Given the description of an element on the screen output the (x, y) to click on. 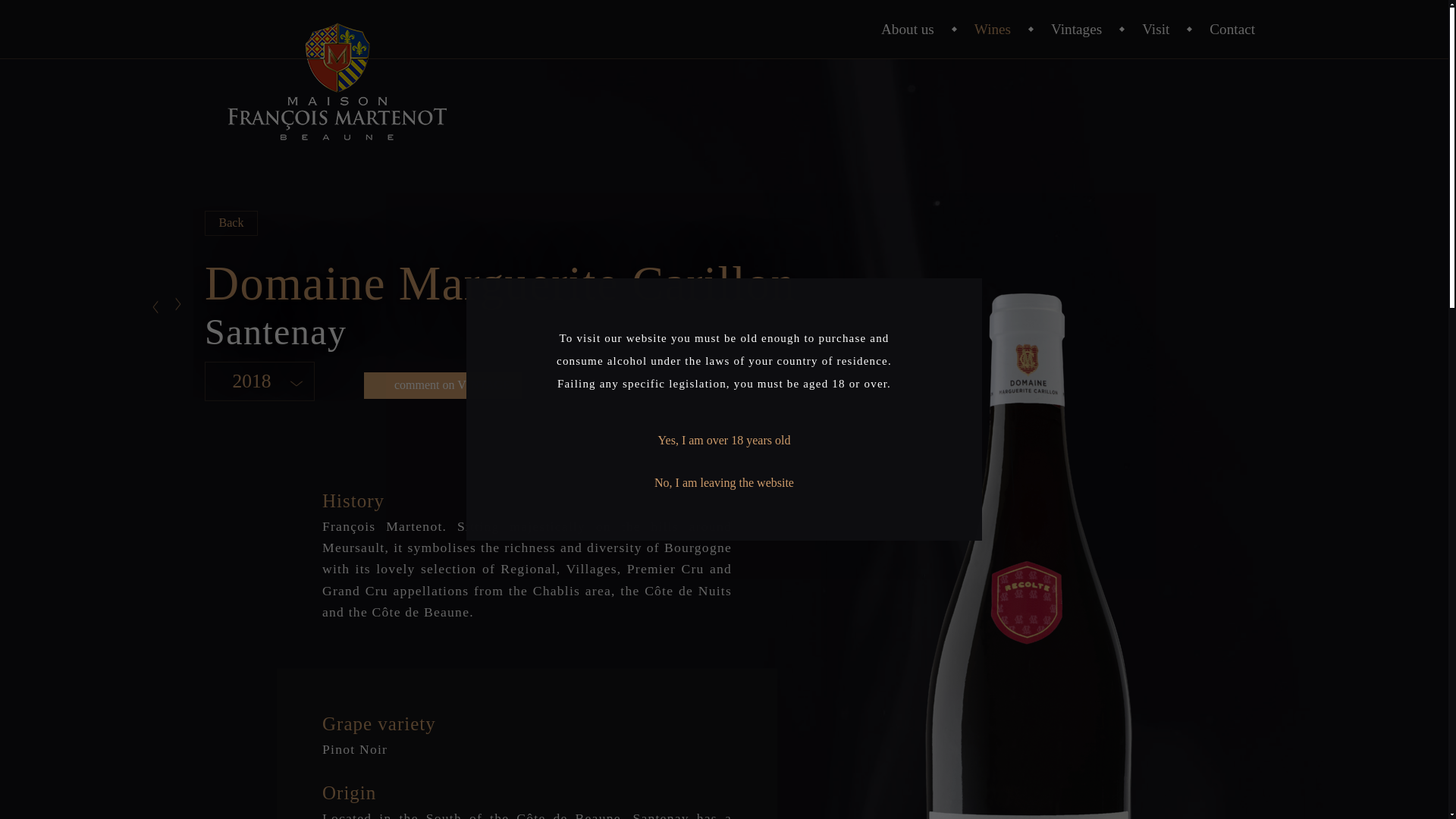
About us (907, 29)
Wines (992, 29)
Visit (1155, 29)
Contact (1232, 29)
Vintages (1076, 29)
